Given the description of an element on the screen output the (x, y) to click on. 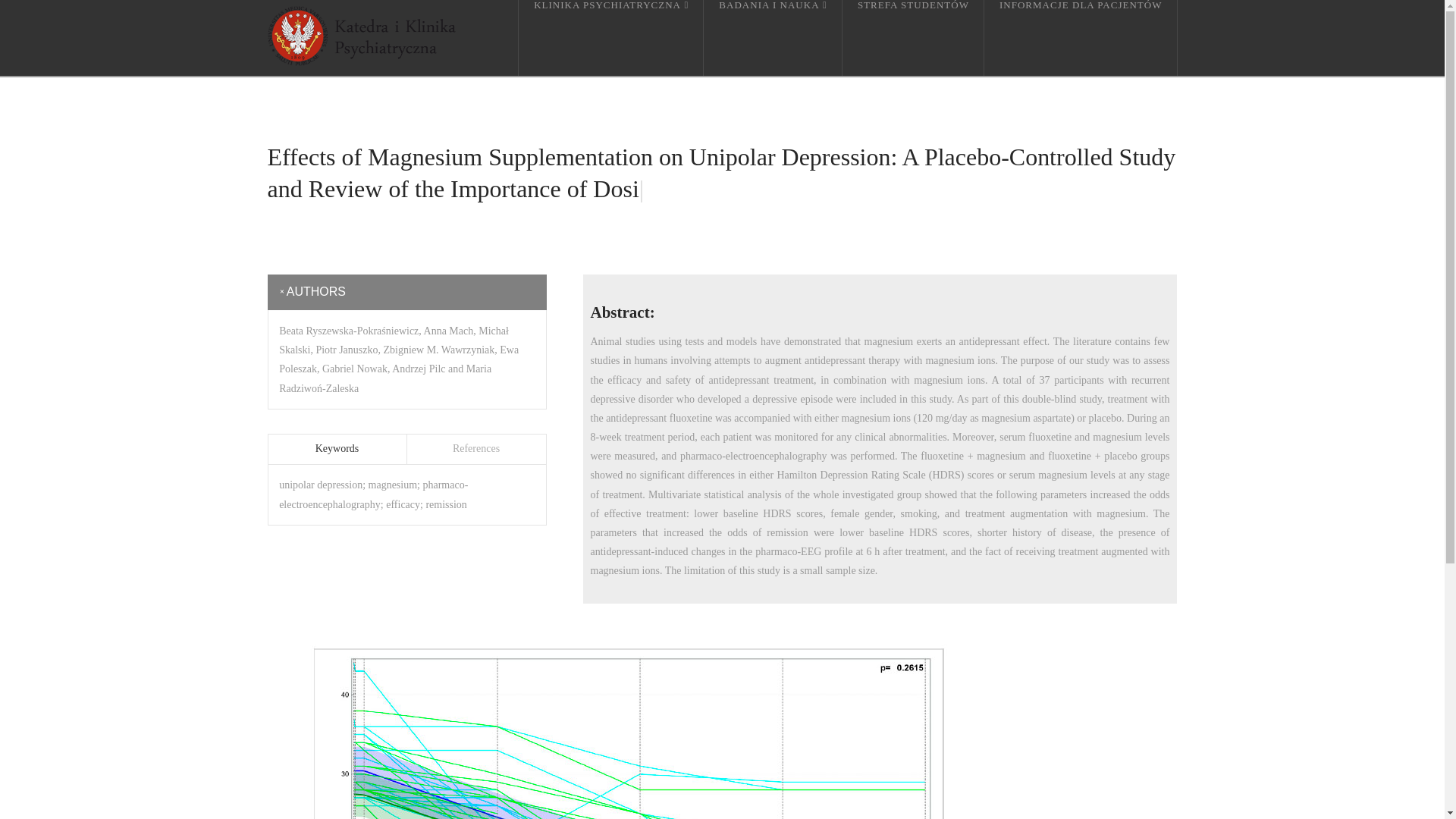
Keywords (336, 449)
AUTHORS (406, 292)
BADANIA I NAUKA (773, 38)
KLINIKA PSYCHIATRYCZNA (610, 38)
References (475, 449)
